Given the description of an element on the screen output the (x, y) to click on. 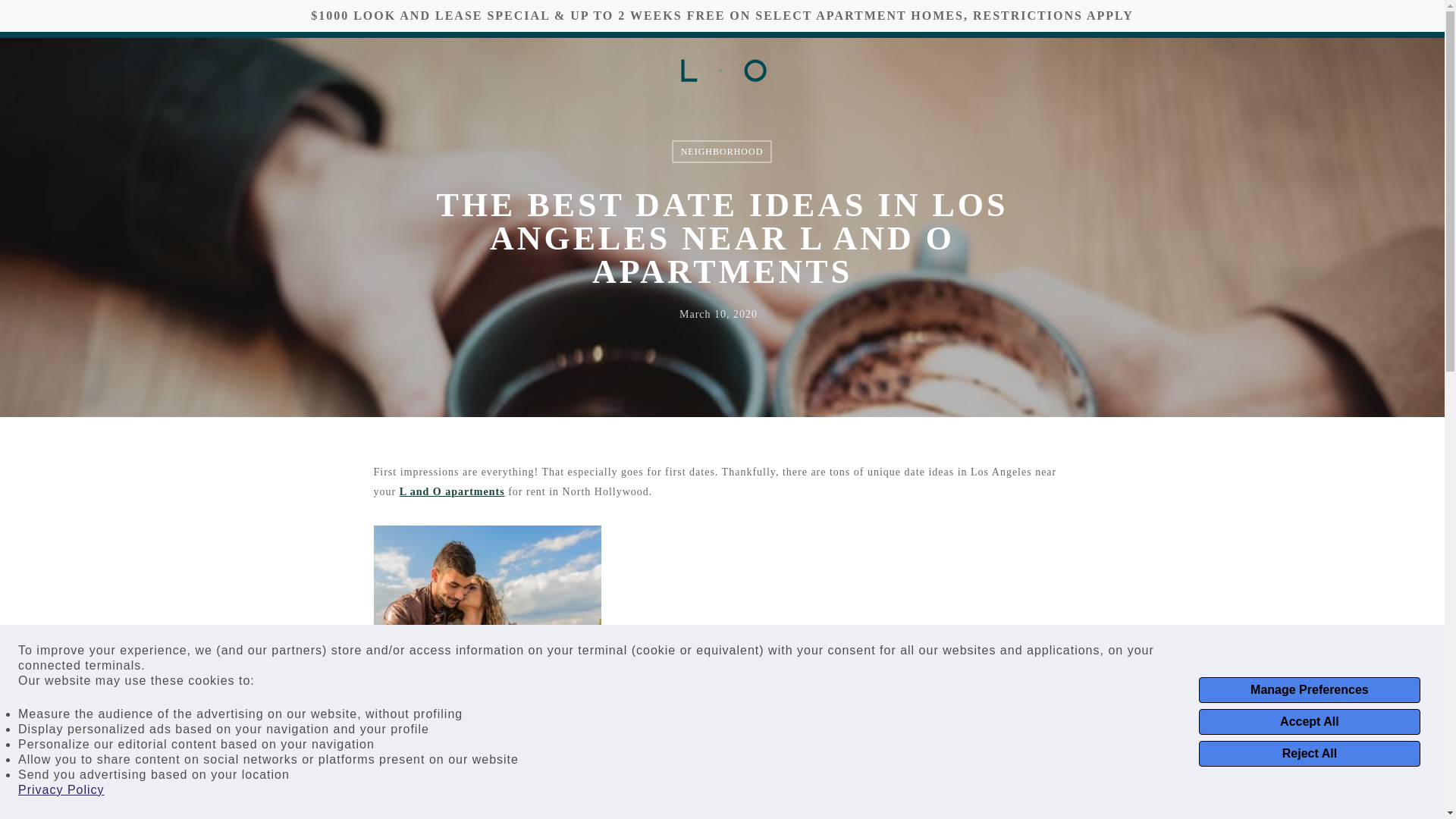
Logo (724, 69)
NEIGHBORHOOD (722, 151)
Skip to content (15, 7)
Reject All (1309, 753)
Privacy Policy (60, 789)
Accept All (1309, 721)
Manage Preferences (1309, 689)
L and O Bike Kitchen (570, 814)
L and O apartments (451, 491)
